Given the description of an element on the screen output the (x, y) to click on. 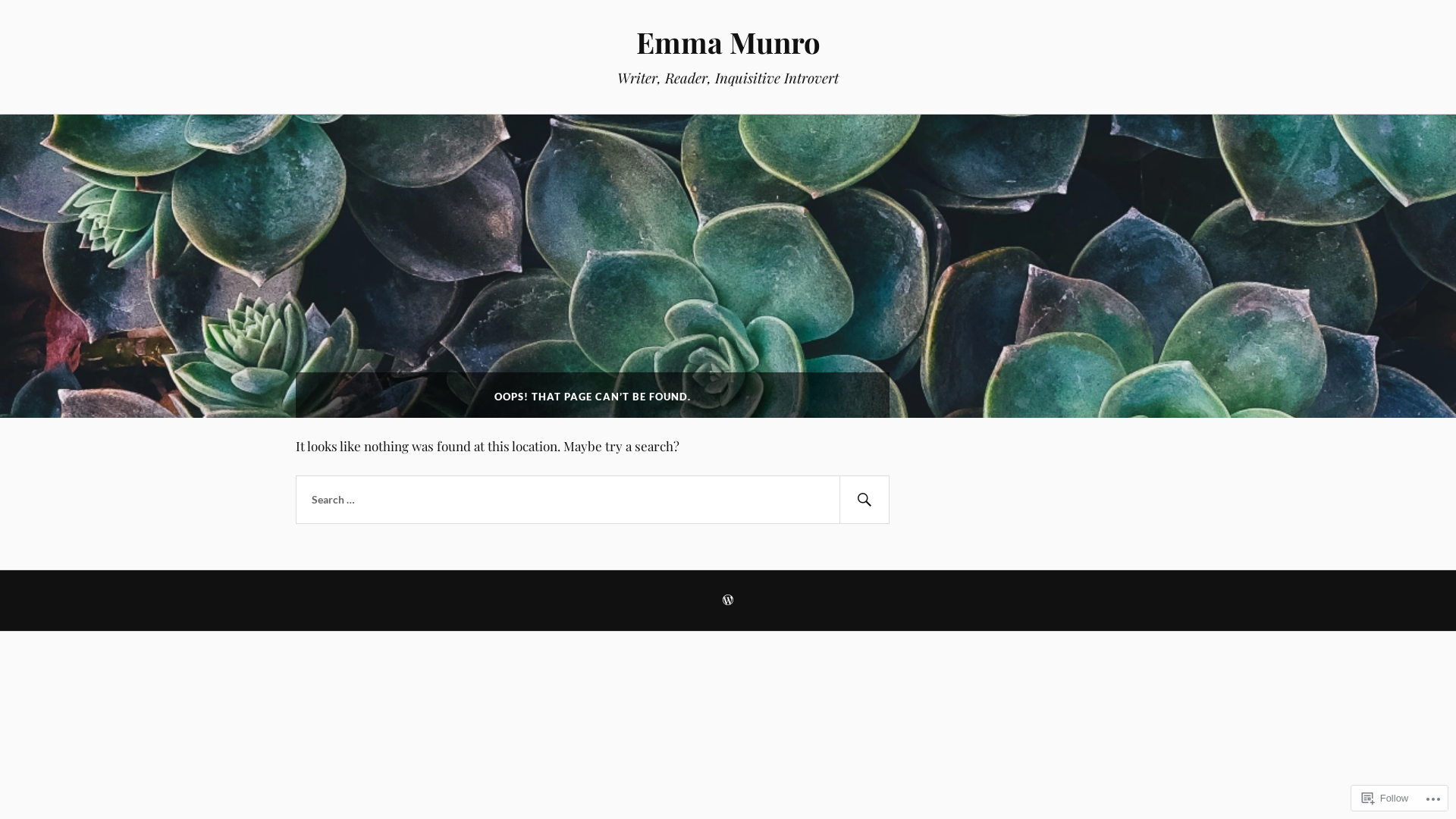
CREATE A WEBSITE OR BLOG AT WORDPRESS.COM Element type: text (727, 600)
Follow Element type: text (1385, 797)
Search for: Element type: hover (592, 499)
Emma Munro Element type: text (727, 41)
